Given the description of an element on the screen output the (x, y) to click on. 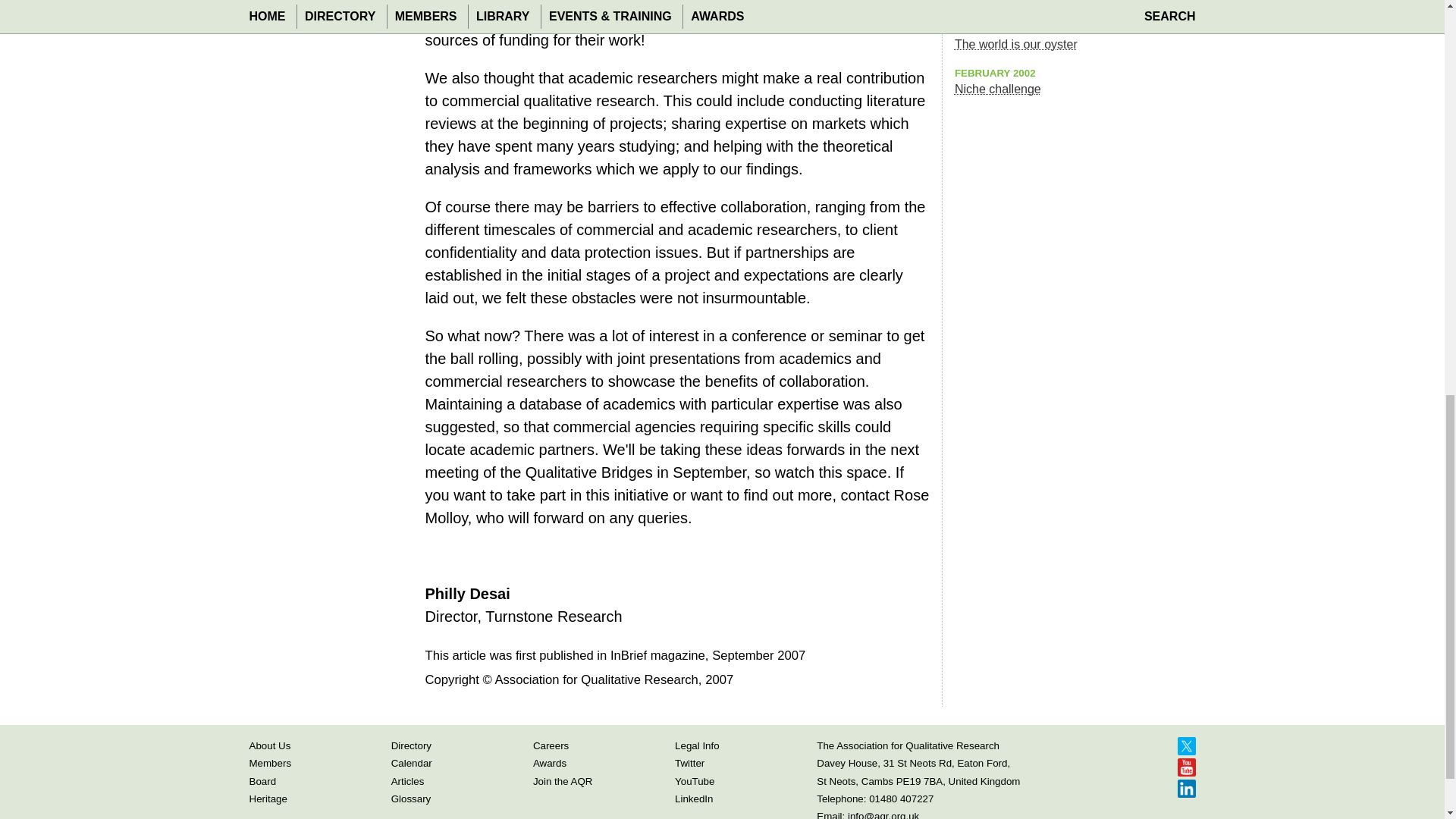
Directory (410, 745)
The world is our oyster (1016, 43)
Board (262, 781)
About Us (268, 745)
Members (269, 763)
Heritage (267, 798)
Calendar (411, 763)
Truth, Lies and Videotape (1024, 2)
Niche challenge (998, 88)
